Given the description of an element on the screen output the (x, y) to click on. 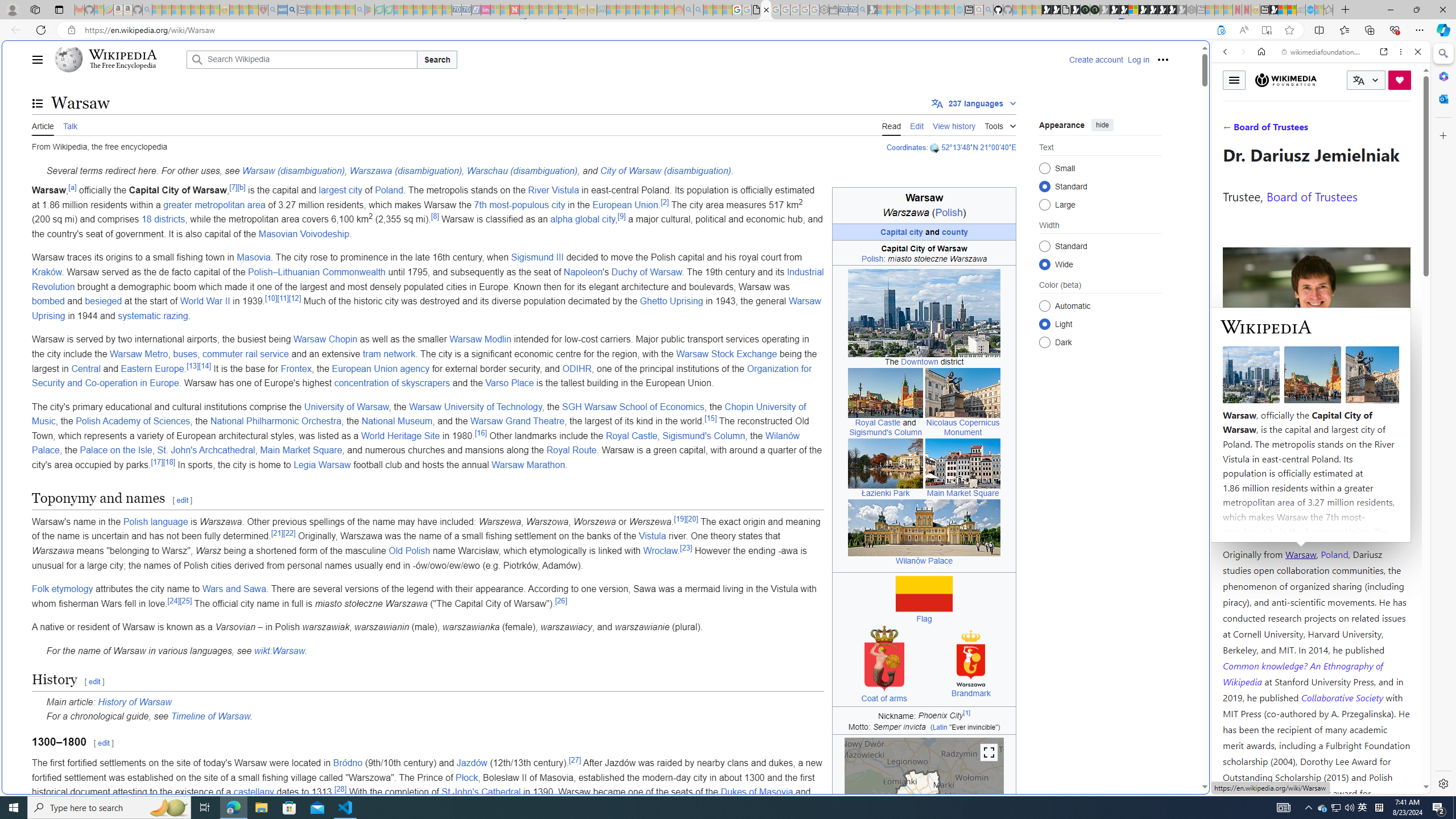
commuter rail service (245, 353)
Official logo of Warsaw (970, 658)
greater metropolitan area (213, 204)
Log in (1137, 58)
[24] (173, 600)
Class: mergedtoprow ib-settlement-official (923, 252)
Frontex (296, 368)
Warsaw Chopin (326, 339)
Coat of arms of Warsaw (883, 658)
